Given the description of an element on the screen output the (x, y) to click on. 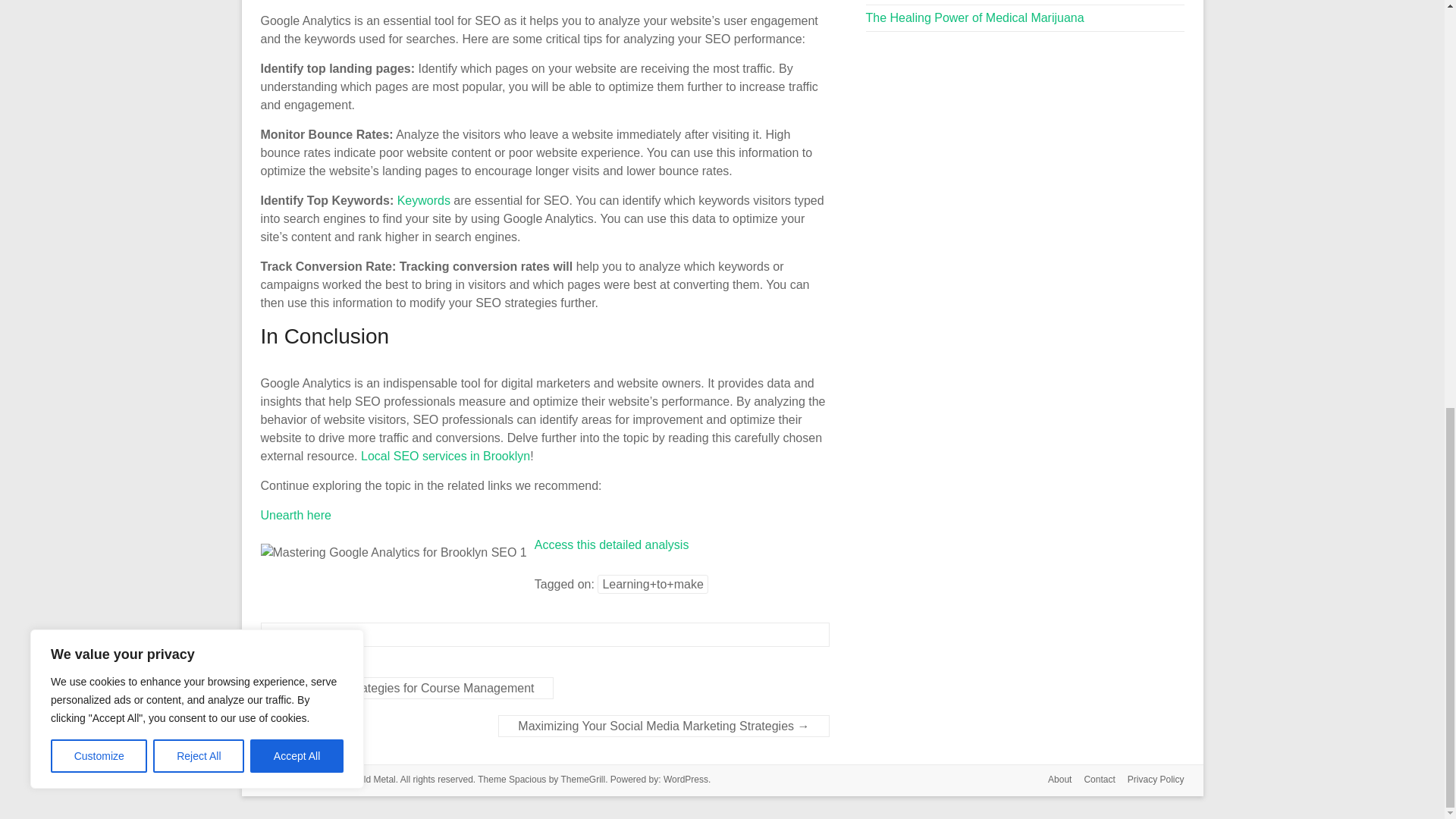
Spacious (527, 778)
WordPress (685, 778)
Local SEO services in Brooklyn (445, 455)
400 Gold Metal (363, 778)
Unearth here (295, 514)
Keywords (423, 200)
Access this detailed analysis (611, 544)
General (301, 634)
